Given the description of an element on the screen output the (x, y) to click on. 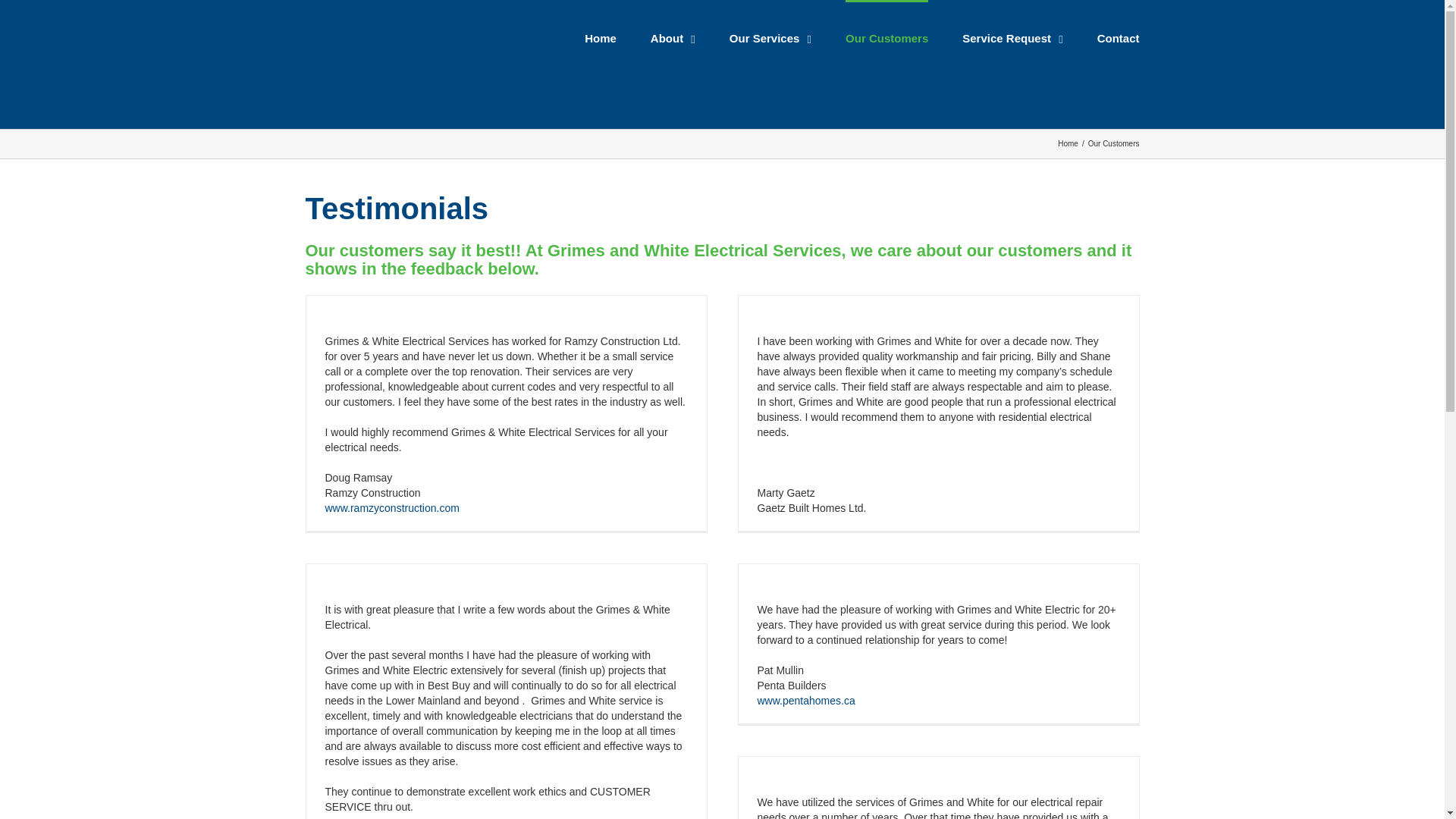
www.ramzyconstruction.com (391, 508)
Home (1068, 143)
Our Services (769, 37)
Our Customers (886, 37)
Service Request (1012, 37)
www.pentahomes.ca (805, 700)
